Given the description of an element on the screen output the (x, y) to click on. 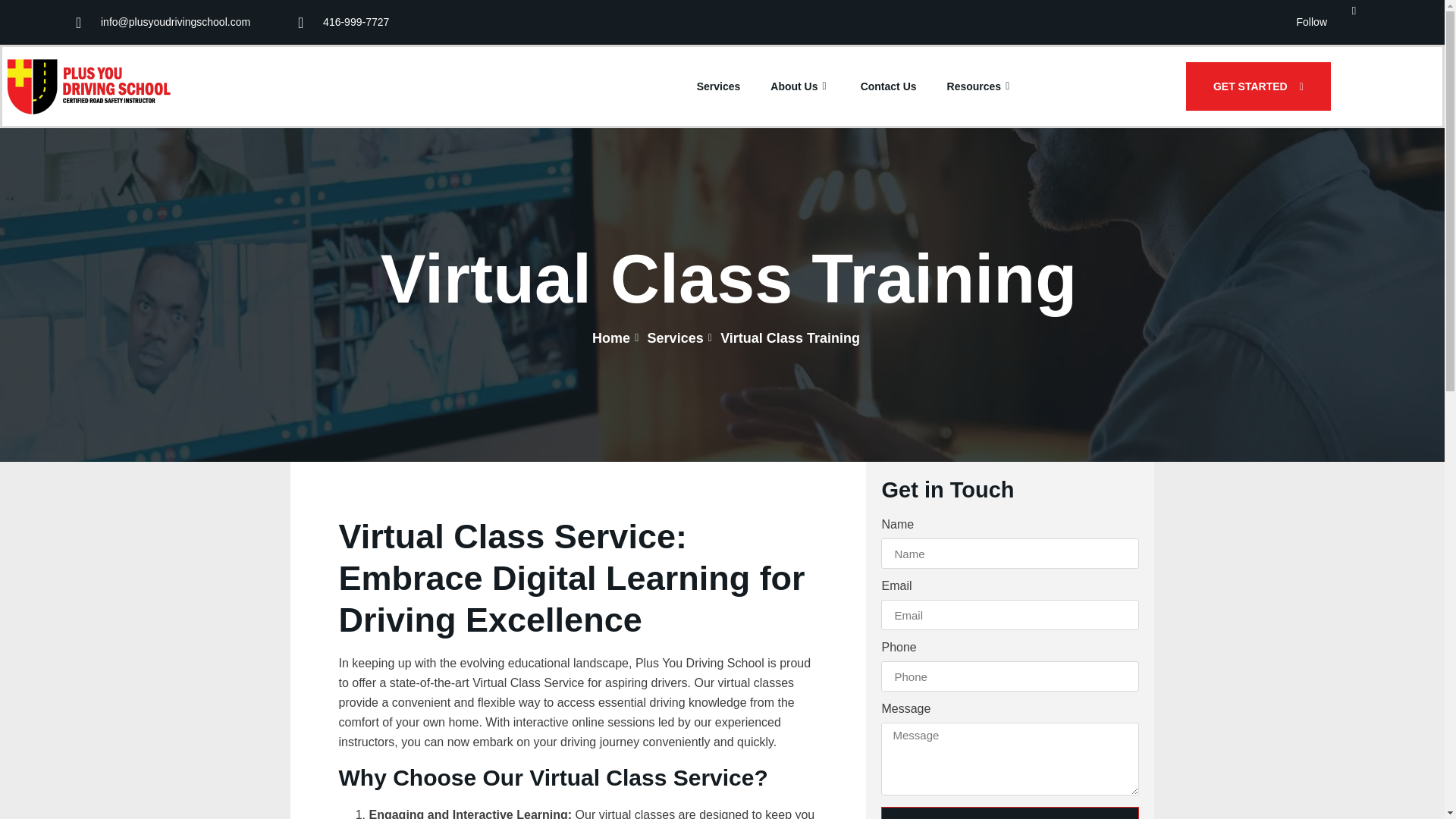
416-999-7727 (343, 22)
GET STARTED (1258, 86)
Services (724, 86)
About Us (799, 86)
Contact Us (888, 86)
Resources (974, 86)
